Given the description of an element on the screen output the (x, y) to click on. 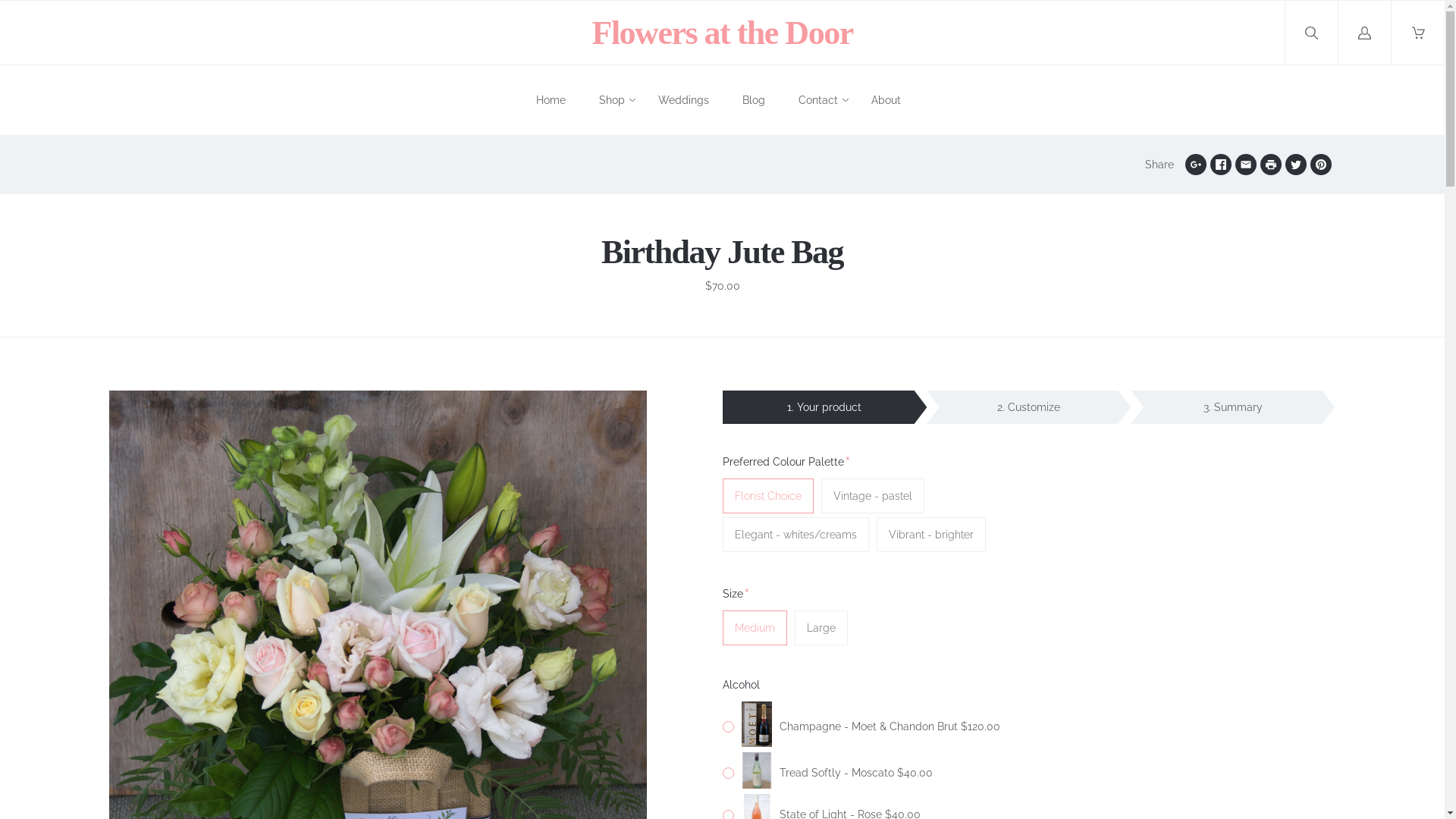
Blog Element type: text (753, 100)
About Element type: text (885, 100)
Flowers at the Door Element type: text (721, 32)
Log in Element type: text (1364, 32)
Shop Element type: text (611, 100)
Weddings Element type: text (683, 100)
Home Element type: text (550, 100)
Contact Element type: text (817, 100)
